Given the description of an element on the screen output the (x, y) to click on. 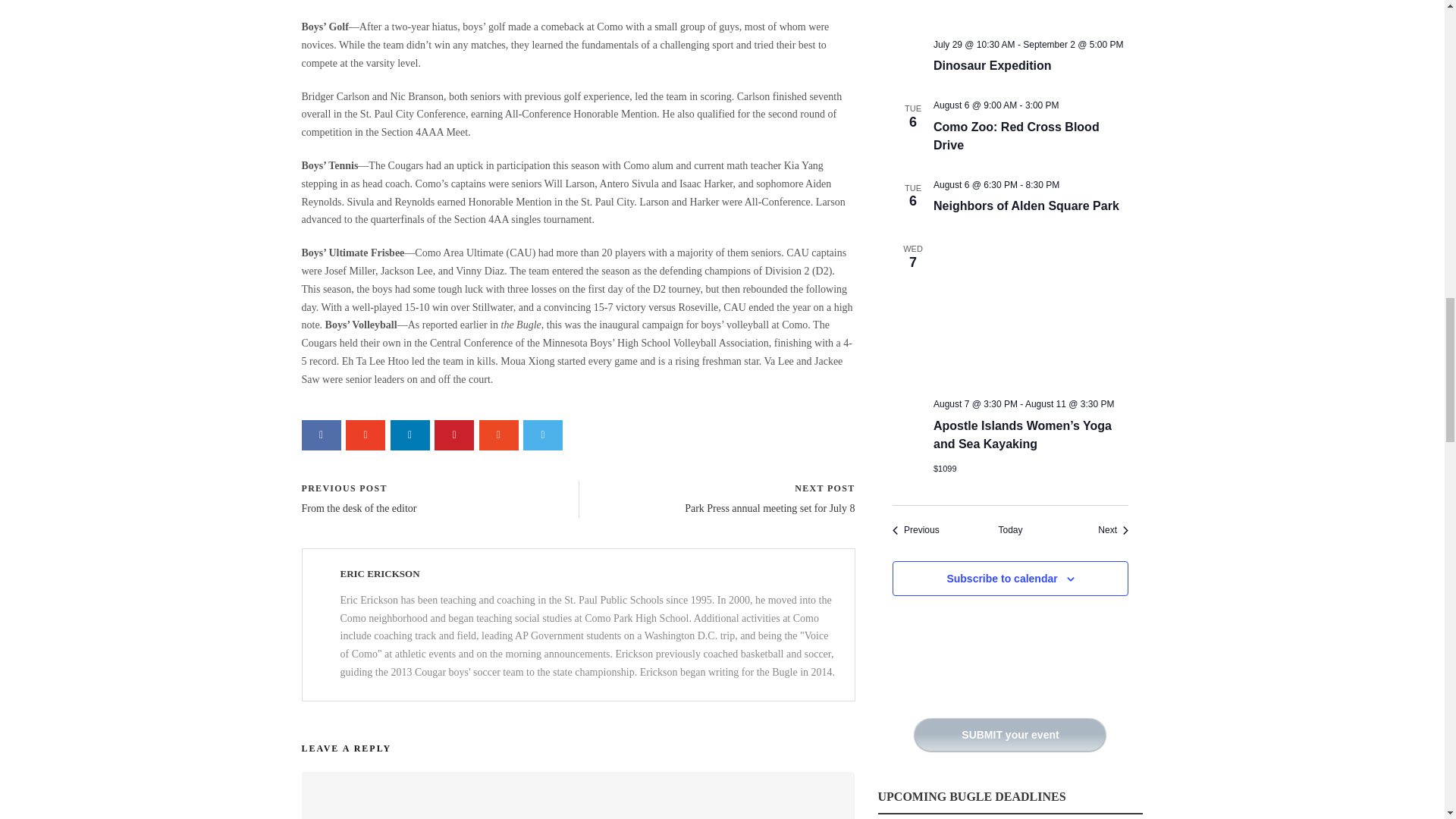
Posts by Eric Erickson (379, 573)
Dinosaur Expedition (992, 65)
Dinosaur Expedition (1030, 13)
